Given the description of an element on the screen output the (x, y) to click on. 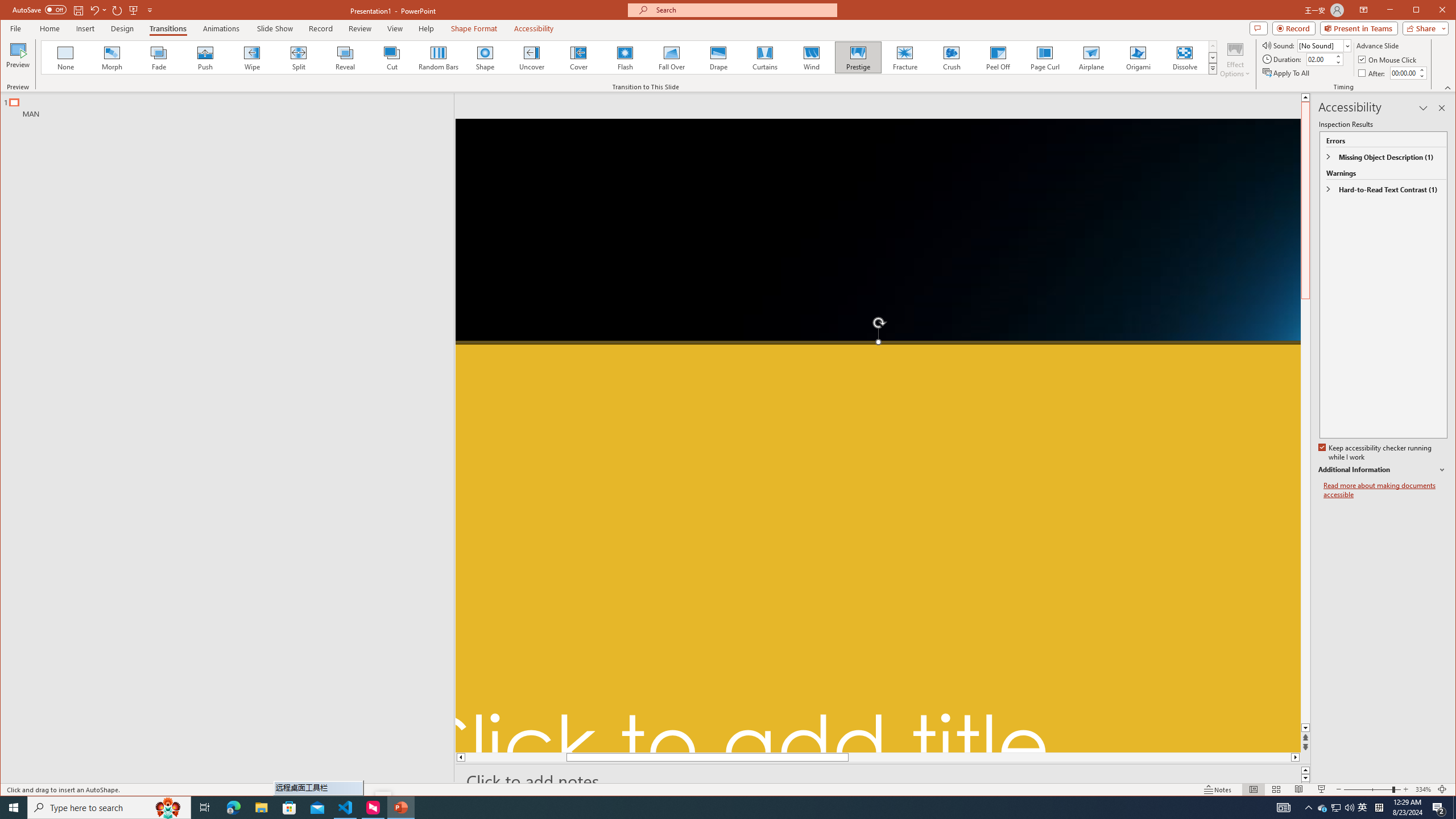
Task View (204, 807)
Class: NetUIImage (1213, 68)
More (1421, 69)
Wipe (251, 57)
Fall Over (670, 57)
Fracture (904, 57)
Design (122, 28)
File Explorer (261, 807)
Zoom In (1405, 789)
Notes  (1217, 789)
Drape (717, 57)
On Mouse Click (1387, 59)
Page up (1305, 177)
